Given the description of an element on the screen output the (x, y) to click on. 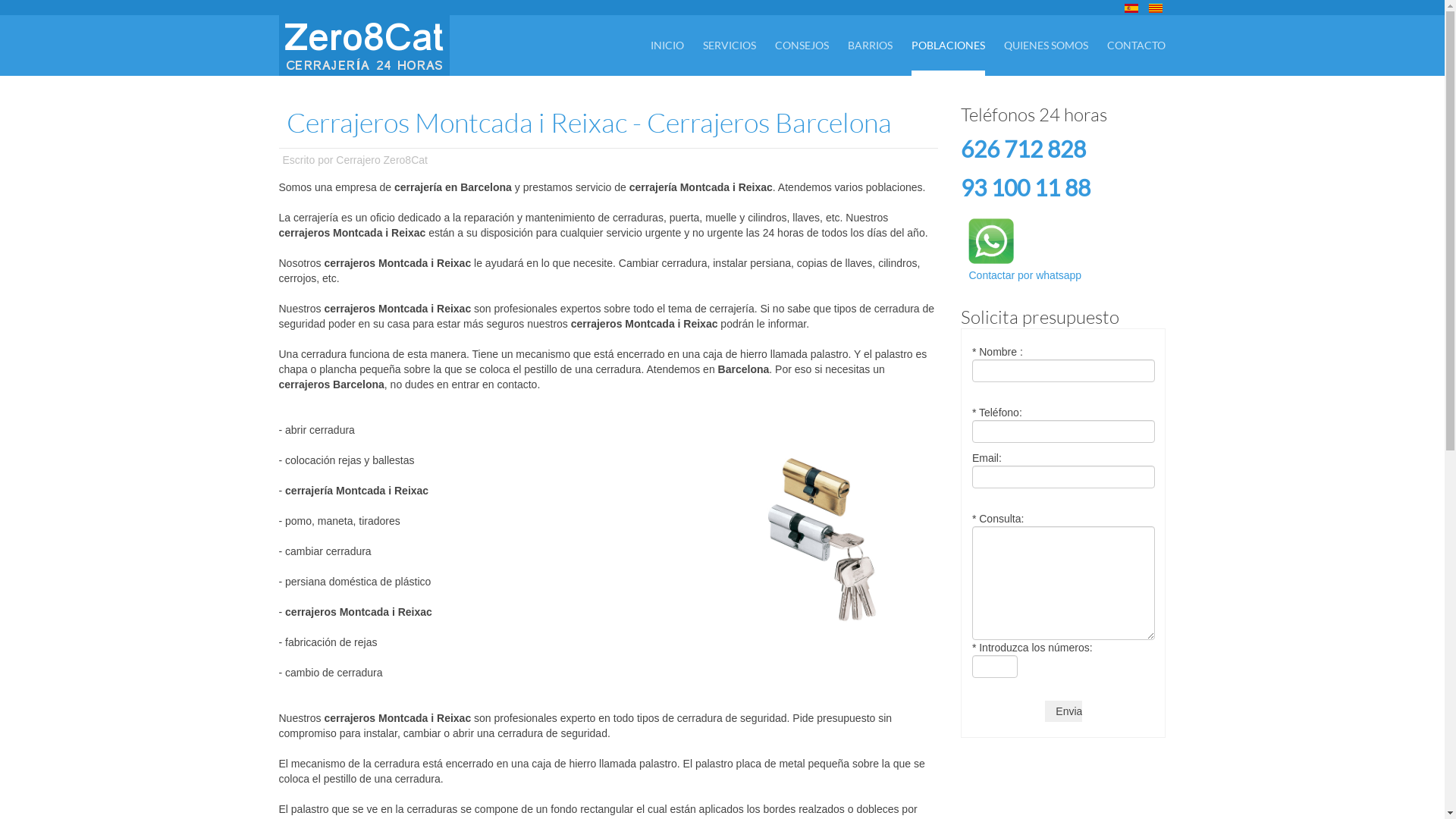
Cerrajeros Montcada i Reixac - Cerrajeros Barcelona Element type: text (588, 121)
Contactar por whatsapp Element type: text (1024, 258)
626 712 828 Element type: text (1022, 148)
POBLACIONES Element type: text (948, 45)
INICIO Element type: text (667, 45)
QUIENES SOMOS Element type: text (1046, 45)
SERVICIOS Element type: text (729, 45)
BARRIOS Element type: text (869, 45)
Enviar Element type: text (1062, 710)
CONSEJOS Element type: text (801, 45)
CONTACTO Element type: text (1136, 45)
cerrajero barcelona whatsapp Element type: hover (990, 240)
